Given the description of an element on the screen output the (x, y) to click on. 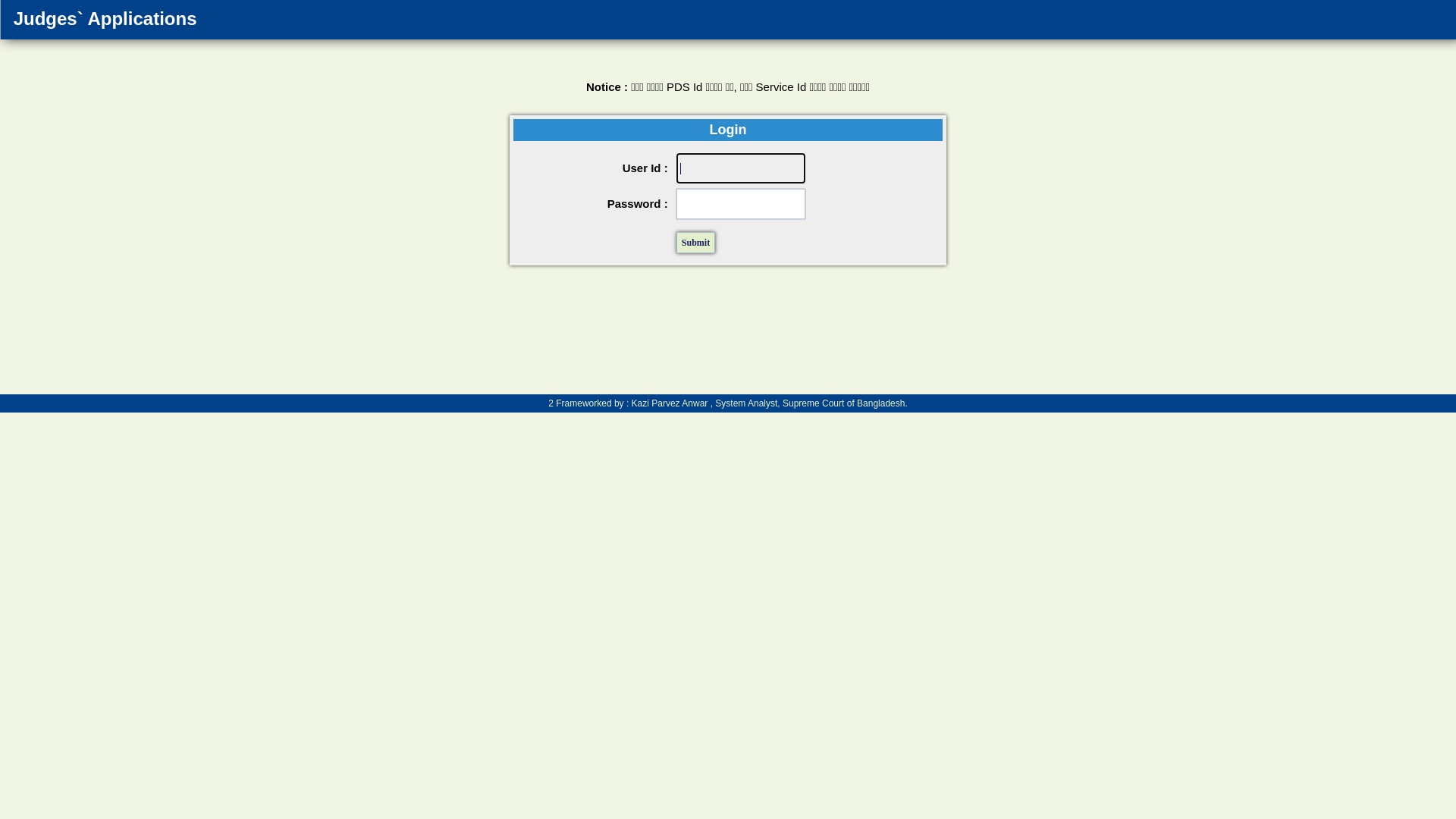
Submit Element type: text (695, 242)
